Given the description of an element on the screen output the (x, y) to click on. 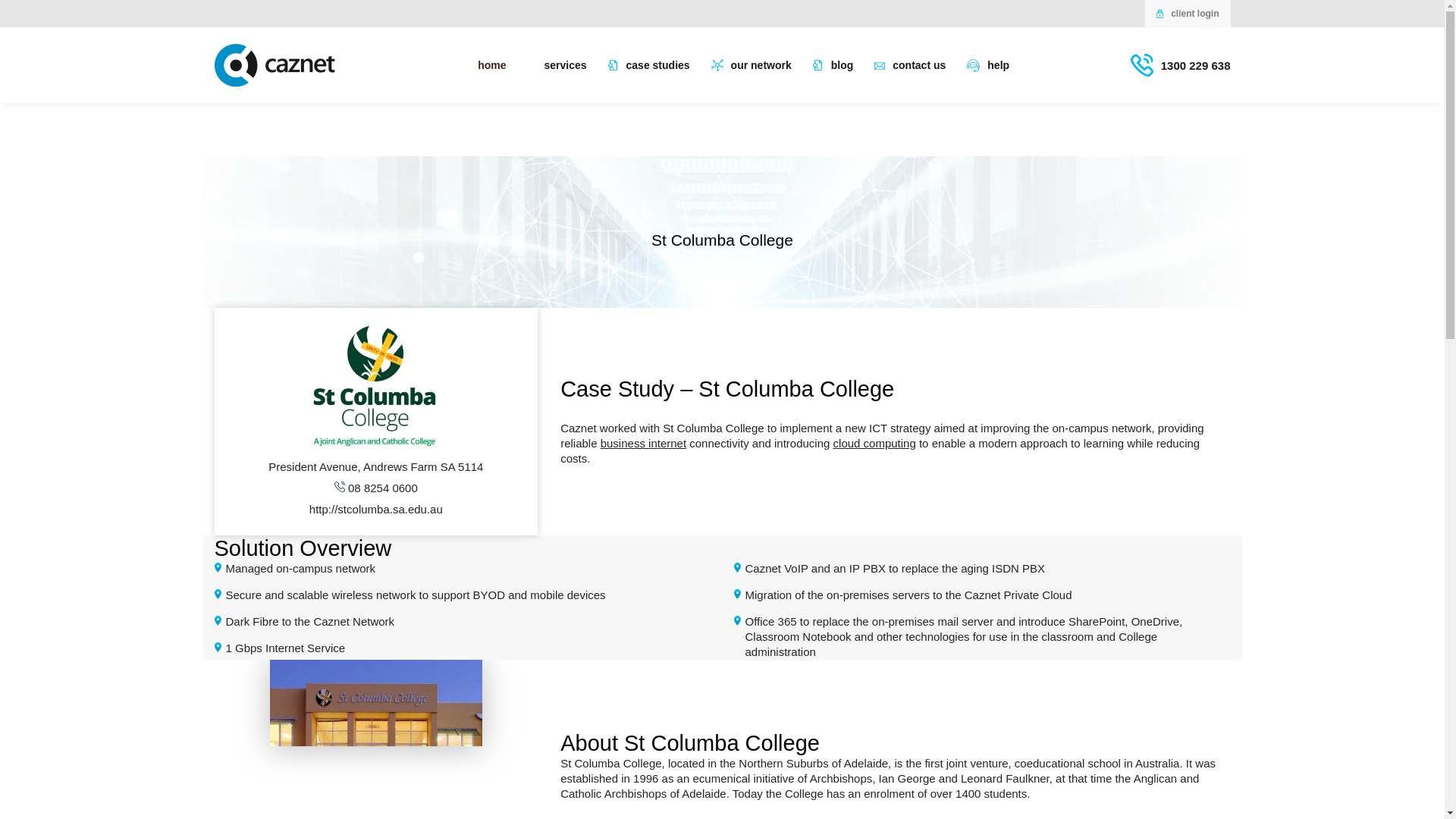
st-columba-college-case-study-ft (375, 739)
08 8254 0600 (375, 487)
help (987, 64)
blog (833, 64)
st-columba-logo (375, 389)
contact us (909, 64)
cloud computing (873, 442)
services (556, 64)
case studies (649, 64)
